Given the description of an element on the screen output the (x, y) to click on. 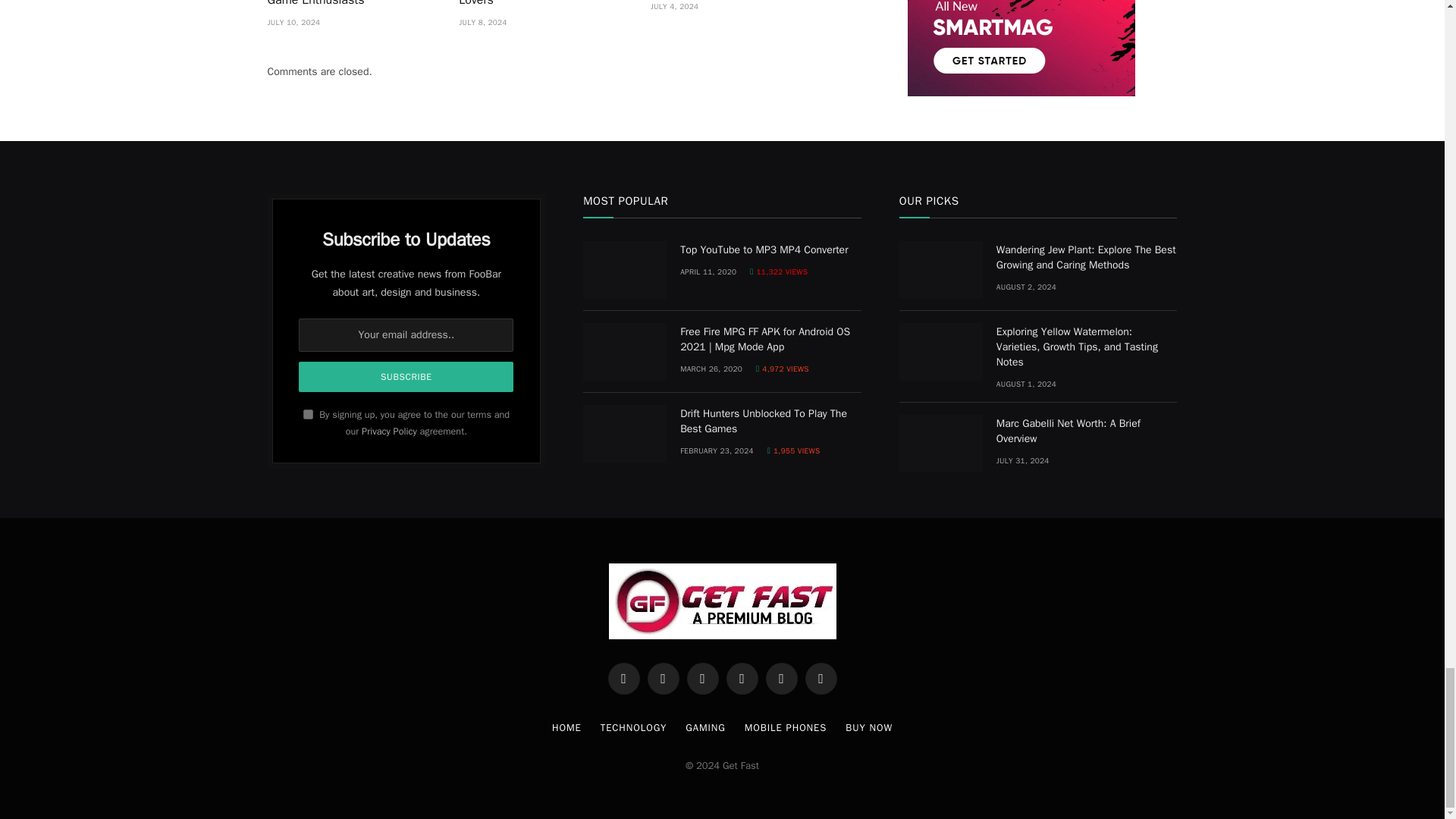
on (307, 414)
Subscribe (405, 376)
